Given the description of an element on the screen output the (x, y) to click on. 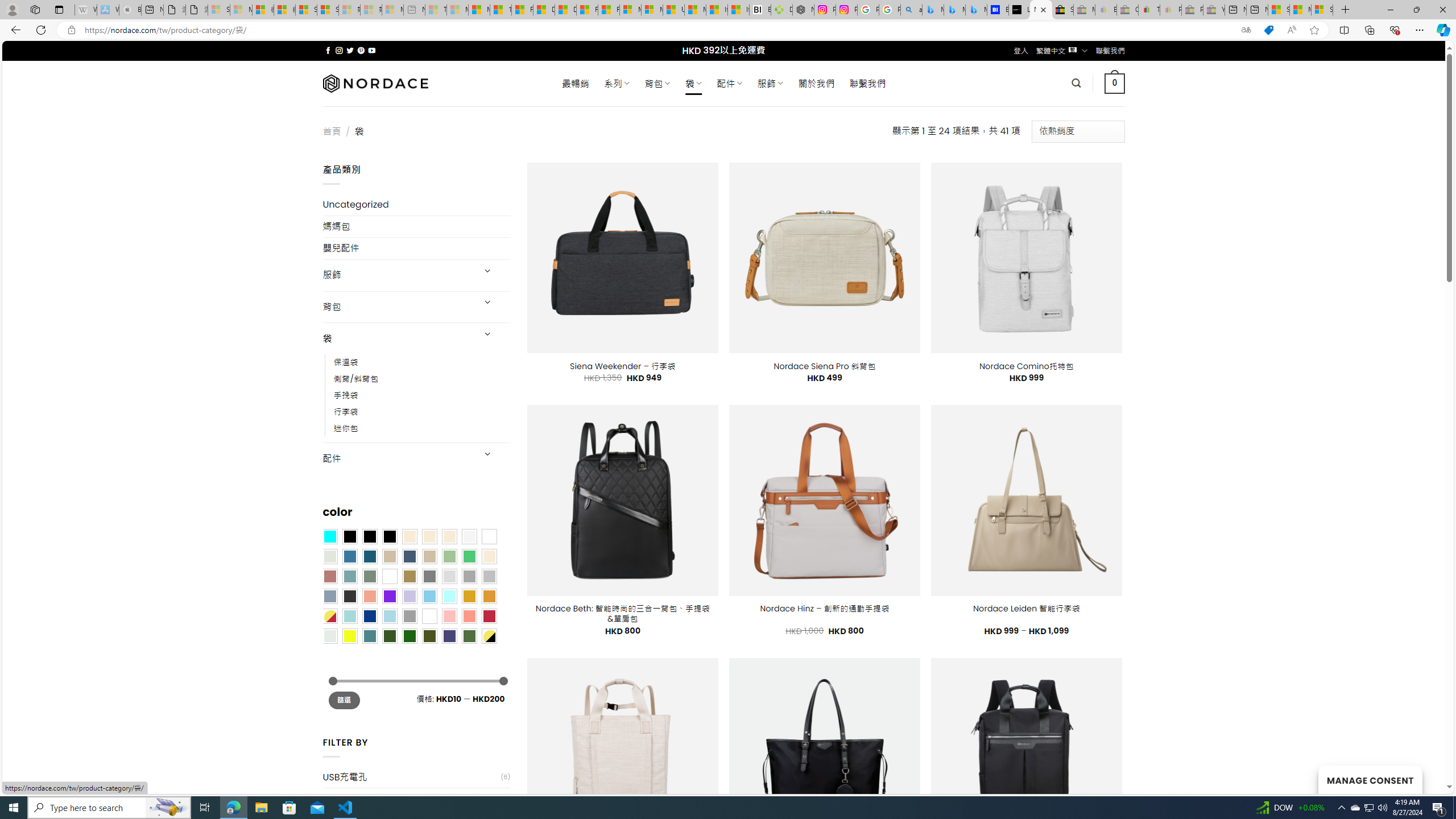
Yard, Garden & Outdoor Living - Sleeping (1214, 9)
Drinking tea every day is proven to delay biological aging (565, 9)
Microsoft account | Account Checkup - Sleeping (392, 9)
Threats and offensive language policy | eBay (1149, 9)
Microsoft Bing Travel - Shangri-La Hotel Bangkok (975, 9)
Follow on YouTube (371, 50)
